Given the description of an element on the screen output the (x, y) to click on. 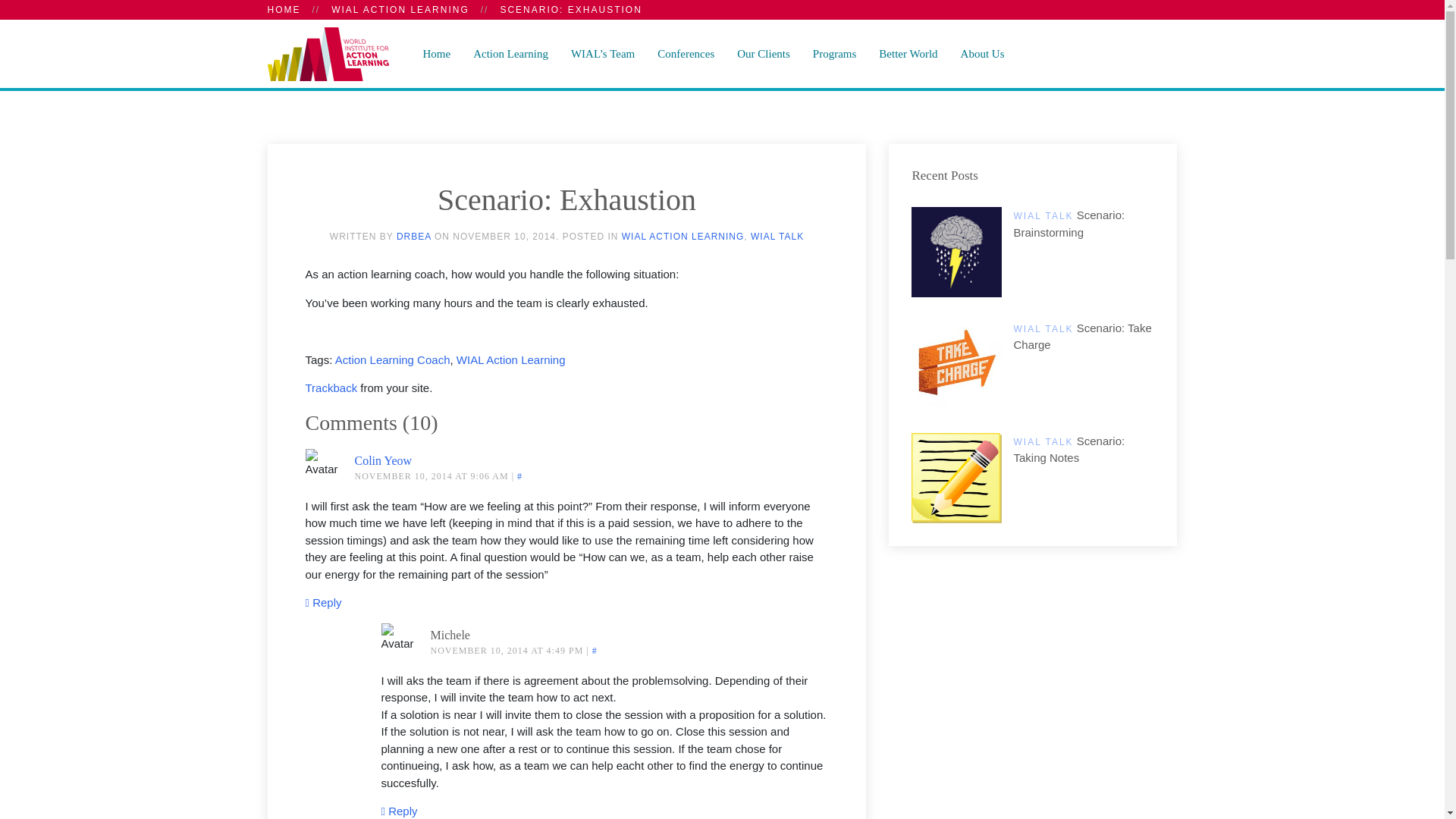
DrBea (413, 235)
HOME (282, 9)
WIAL ACTION LEARNING (399, 9)
Our Clients (763, 53)
Programs (834, 53)
Better World (908, 53)
Conferences (685, 53)
About Us (982, 53)
Action Learning (510, 53)
